Given the description of an element on the screen output the (x, y) to click on. 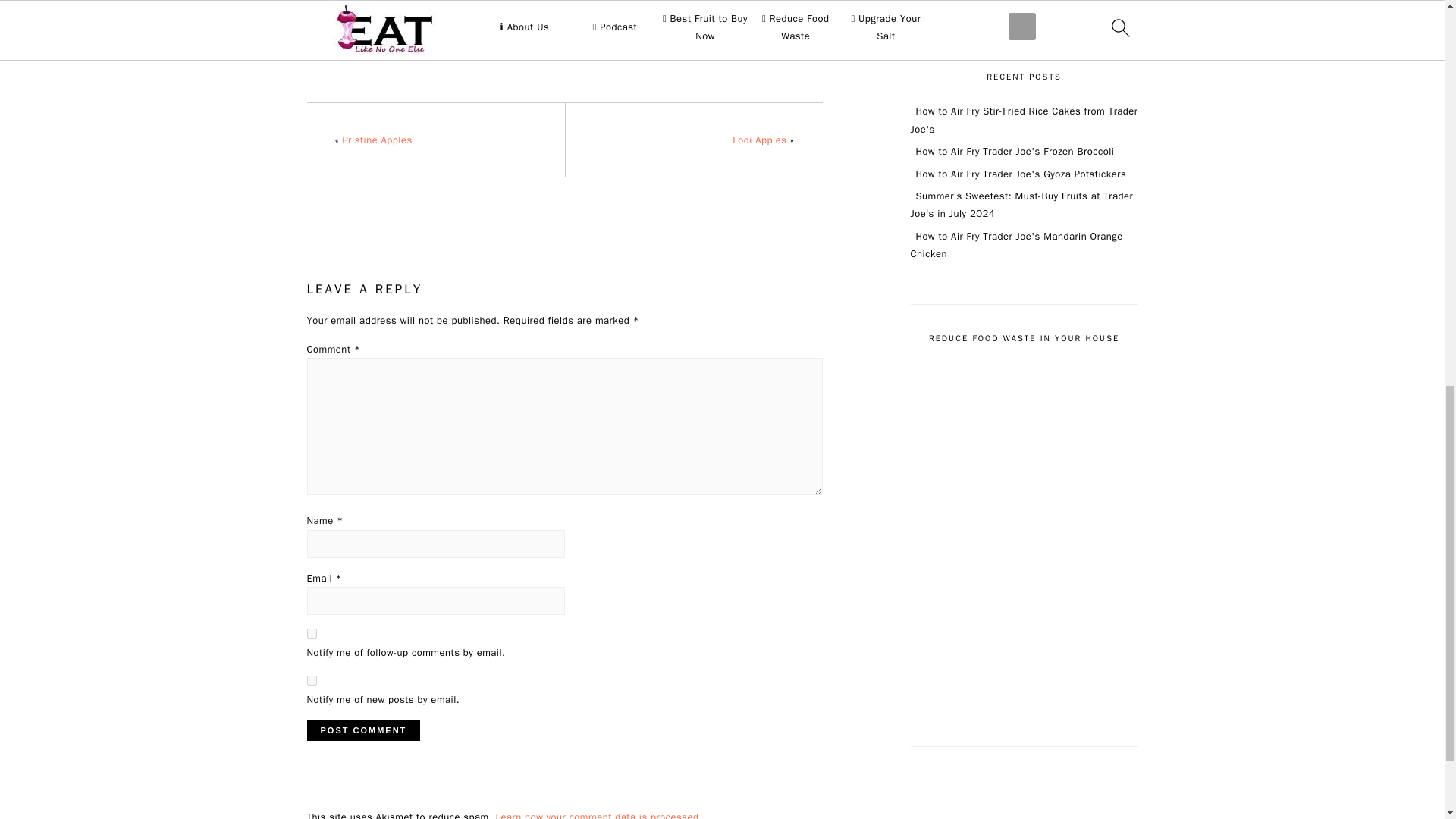
subscribe (310, 633)
subscribe (310, 680)
Post Comment (362, 730)
